Given the description of an element on the screen output the (x, y) to click on. 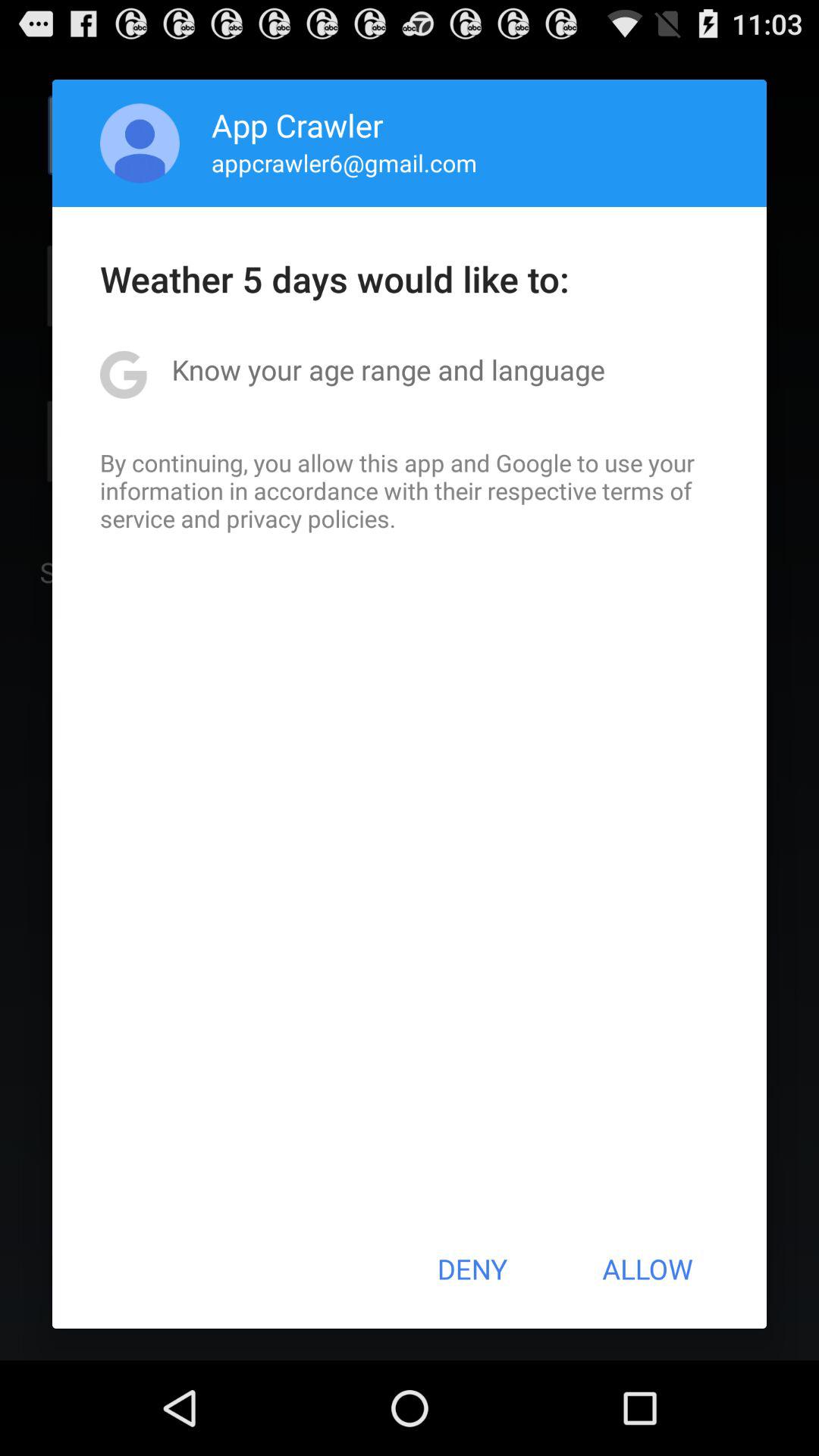
flip to app crawler icon (297, 124)
